Given the description of an element on the screen output the (x, y) to click on. 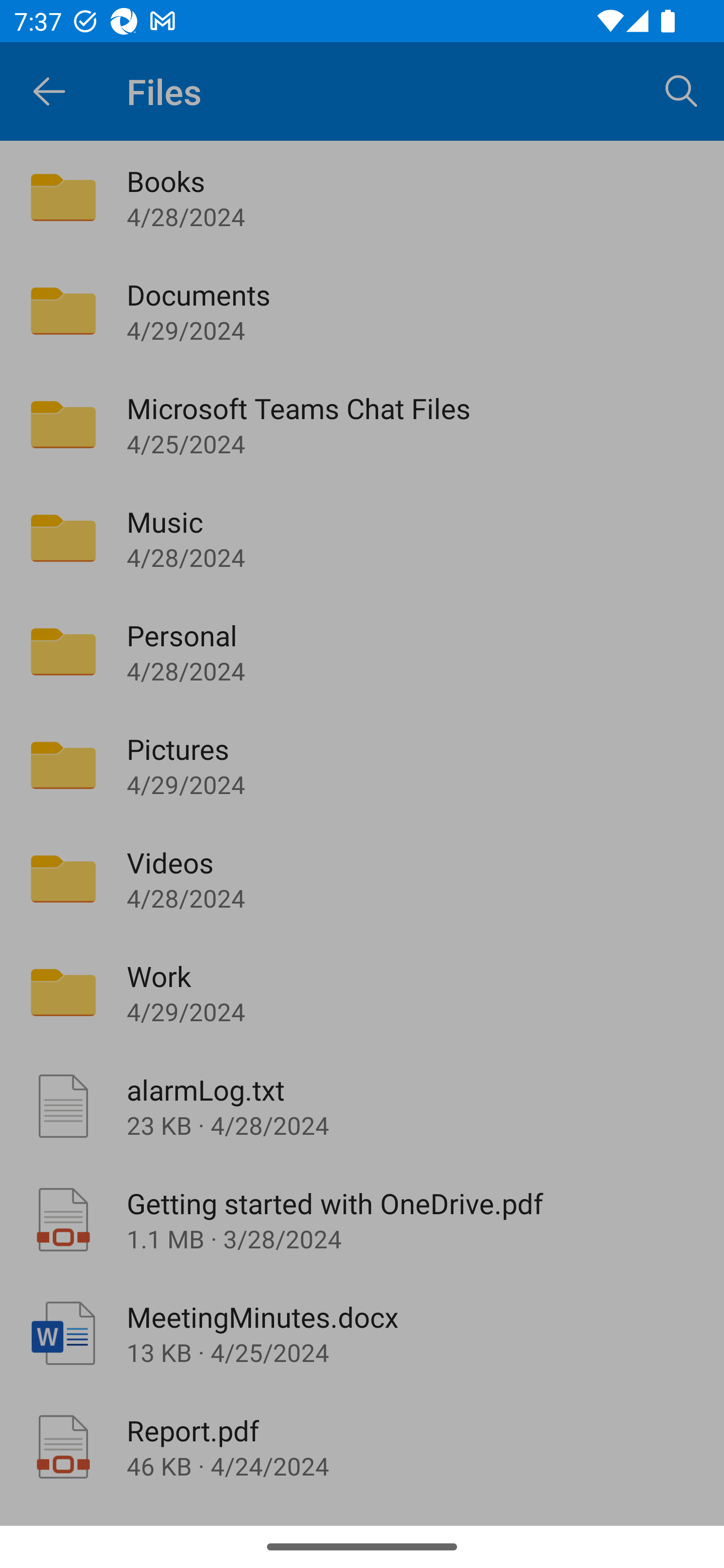
Navigate up (49, 91)
Search (681, 90)
Books 4/28/2024 (362, 197)
Documents 4/29/2024 (362, 311)
Microsoft Teams Chat Files 4/25/2024 (362, 424)
Music 4/28/2024 (362, 537)
Personal 4/28/2024 (362, 651)
Pictures 4/29/2024 (362, 764)
Videos 4/28/2024 (362, 878)
Work 4/29/2024 (362, 992)
alarmLog.txt 23 KB · 4/28/2024 (362, 1105)
MeetingMinutes.docx 13 KB · 4/25/2024 (362, 1333)
Report.pdf 46 KB · 4/24/2024 (362, 1446)
